Given the description of an element on the screen output the (x, y) to click on. 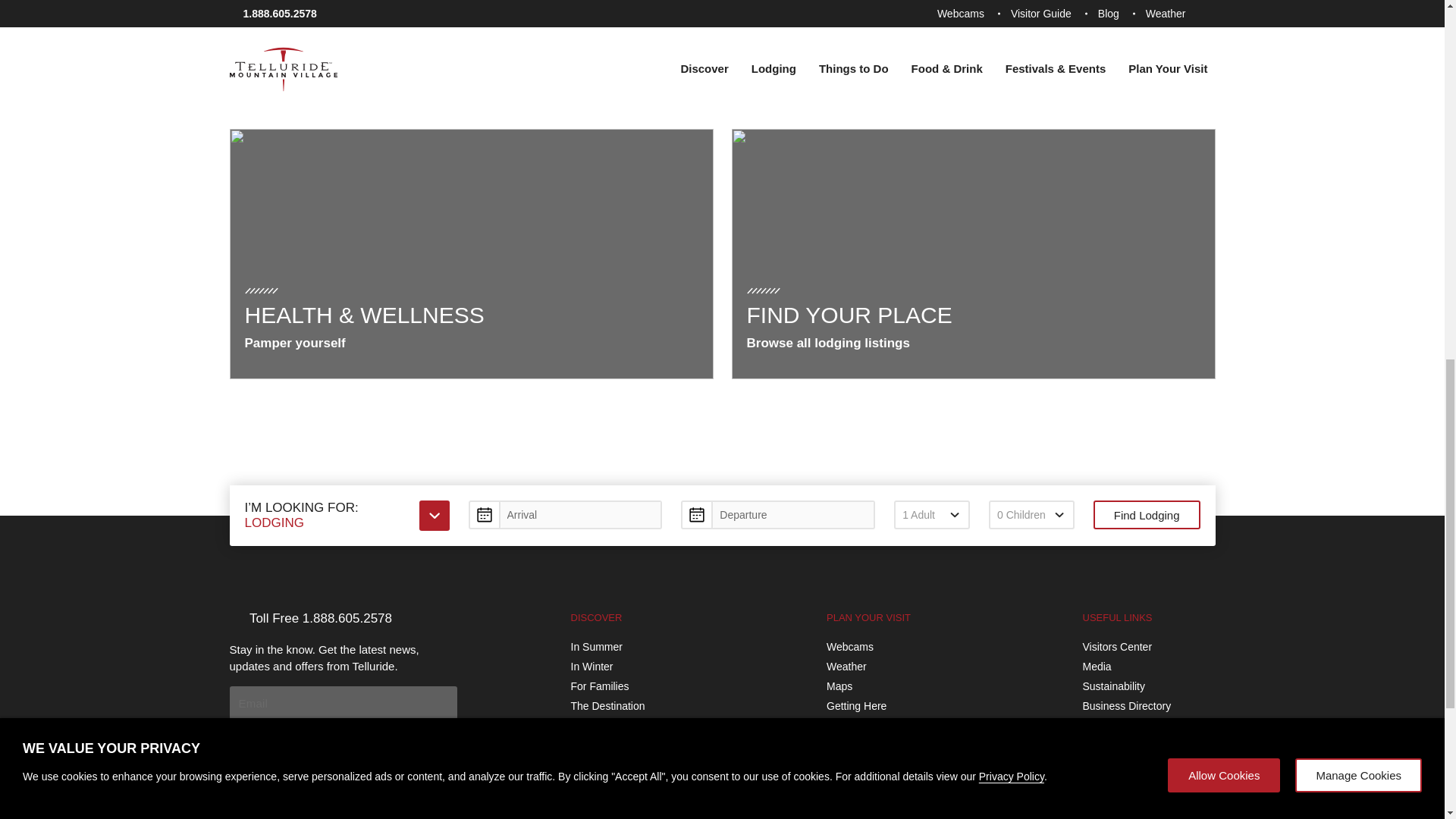
Children (1031, 514)
Arrival Date (565, 514)
Adults (931, 514)
Children (1031, 514)
Departure Date (778, 514)
Adults (931, 514)
Find Lodging (1146, 514)
